Given the description of an element on the screen output the (x, y) to click on. 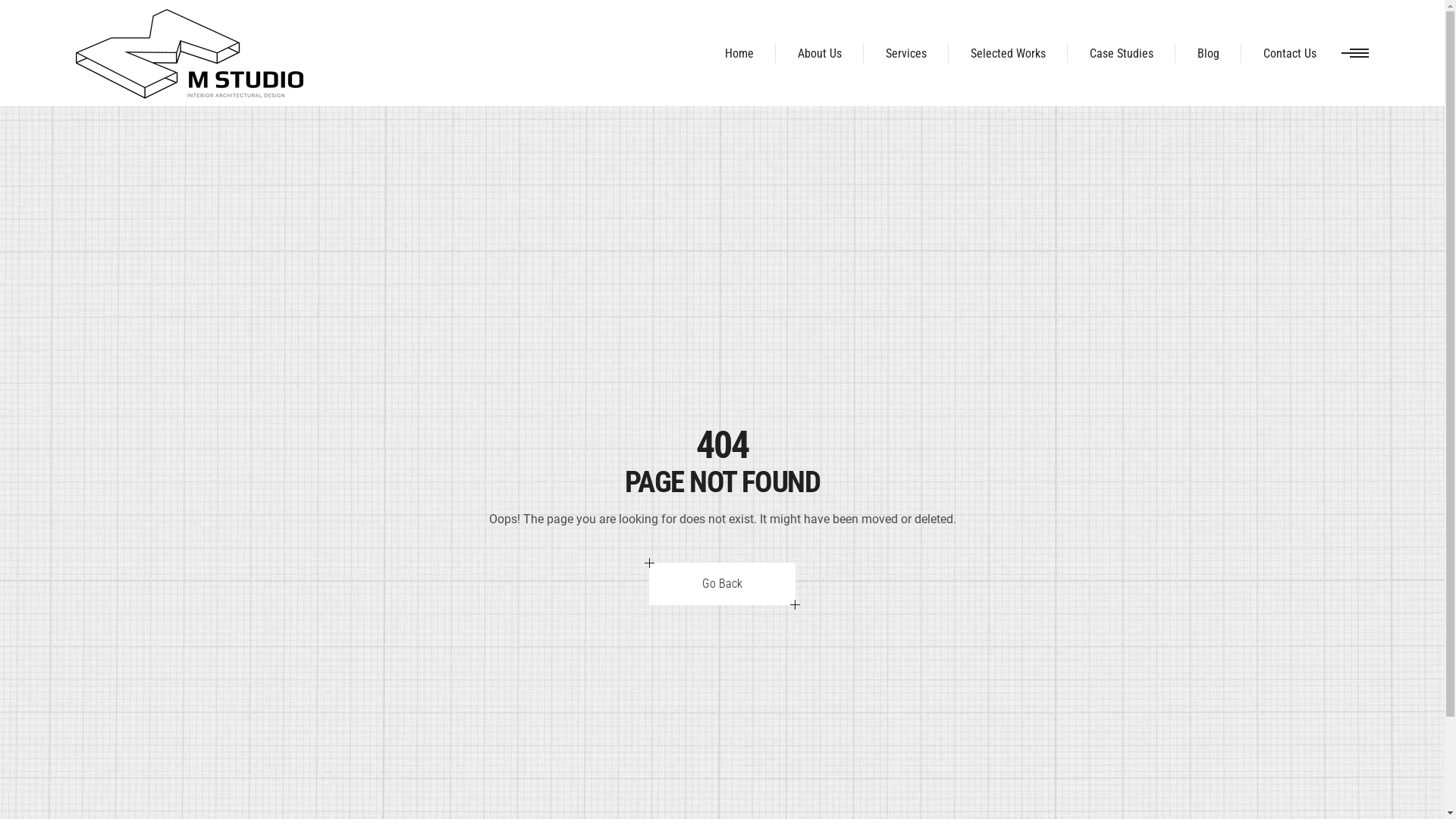
Case Studies Element type: text (1121, 53)
Blog Element type: text (1208, 53)
Selected Works Element type: text (1007, 53)
Go Back Element type: text (722, 583)
Services Element type: text (905, 53)
About Us Element type: text (819, 53)
Contact Us Element type: text (1289, 53)
Home Element type: text (738, 53)
